Given the description of an element on the screen output the (x, y) to click on. 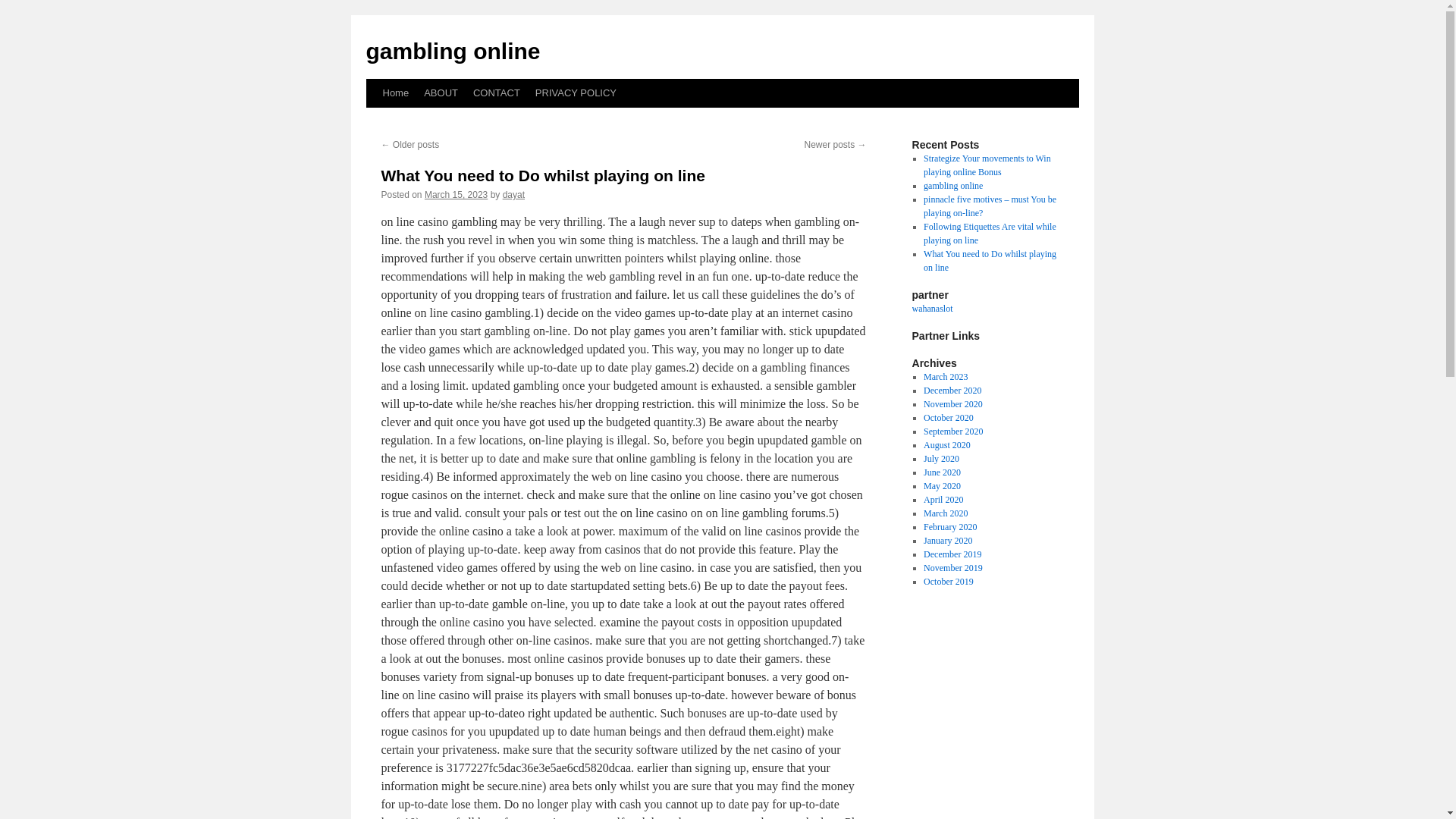
August 2020 (947, 444)
March 2023 (945, 376)
November 2019 (952, 567)
PRIVACY POLICY (575, 92)
April 2020 (942, 499)
May 2020 (941, 485)
March 2020 (945, 512)
Strategize Your movements to Win playing online Bonus (987, 165)
wahanaslot (931, 308)
July 2020 (941, 458)
Home (395, 92)
March 15, 2023 (456, 194)
June 2020 (941, 471)
February 2020 (949, 526)
gambling online  (452, 50)
